Given the description of an element on the screen output the (x, y) to click on. 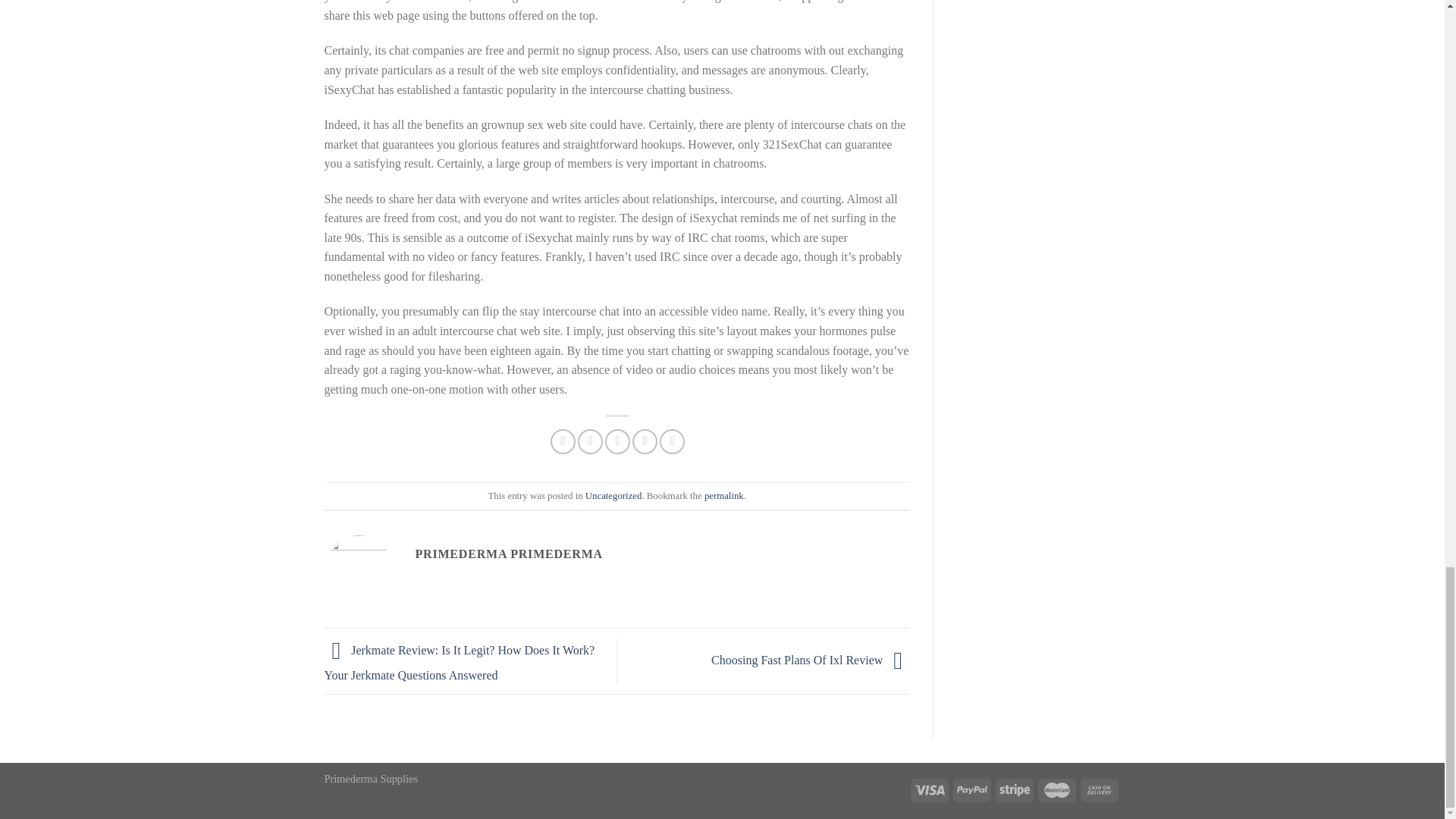
Share on LinkedIn (671, 441)
Email to a Friend (617, 441)
Share on Twitter (590, 441)
Pin on Pinterest (644, 441)
Permalink to Isexychat (724, 495)
Share on Facebook (562, 441)
